Given the description of an element on the screen output the (x, y) to click on. 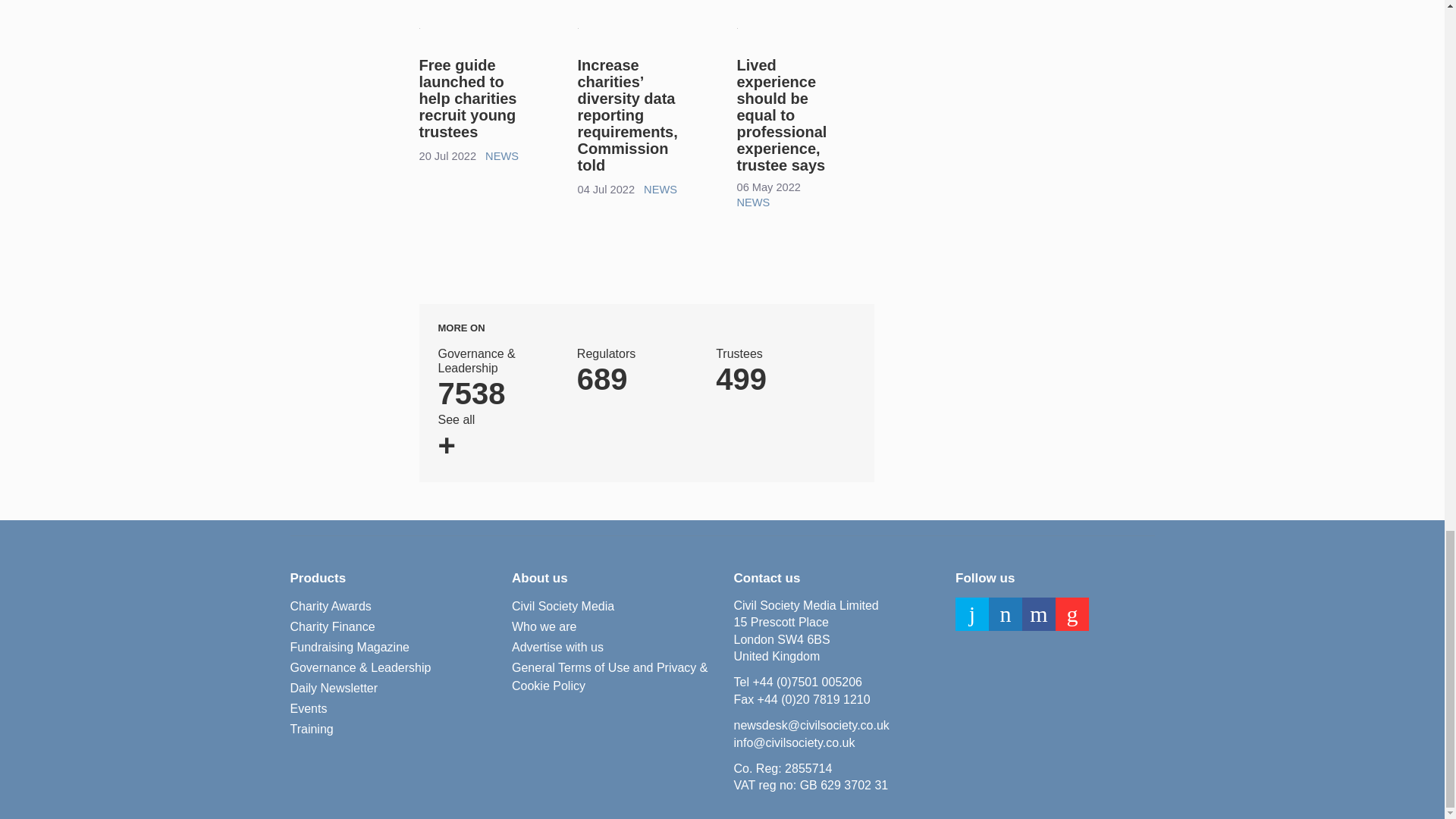
Training (311, 729)
NEWS (775, 371)
Charity Finance (660, 189)
Fundraising Magazine (331, 627)
Charity Awards (349, 647)
NEWS (330, 606)
Events (753, 201)
Civil Society Media (307, 709)
Who we are (563, 606)
Free guide launched to help charities recruit young trustees (544, 627)
Advertise with us (636, 371)
Daily Newsletter (467, 98)
NEWS (558, 647)
